Given the description of an element on the screen output the (x, y) to click on. 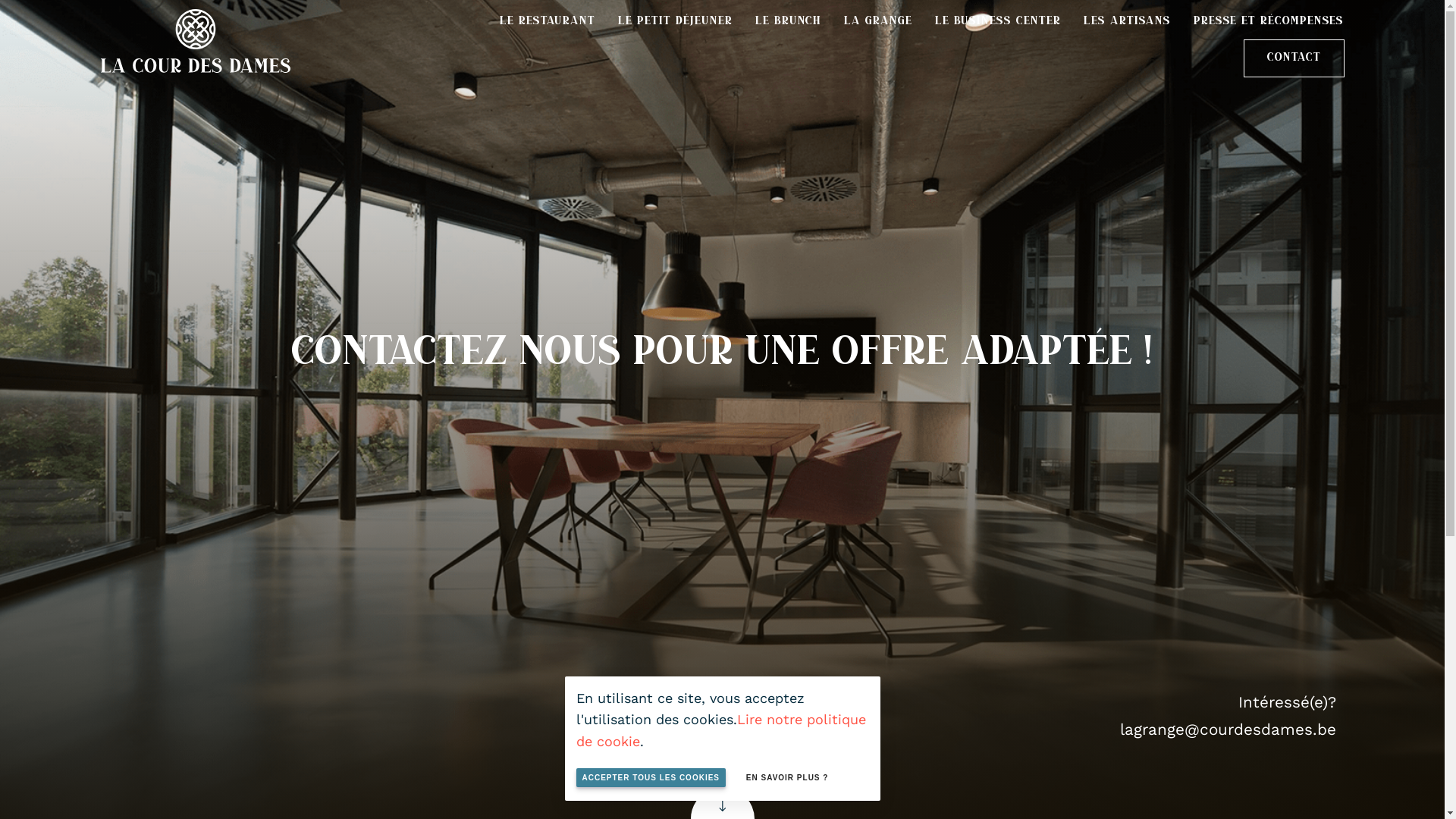
LES ARTISANS Element type: text (1126, 21)
CONTACT Element type: text (1293, 58)
EN SAVOIR PLUS ? Element type: text (787, 777)
LA GRANGE Element type: text (878, 21)
LE RESTAURANT Element type: text (547, 21)
LE BUSINESS CENTER Element type: text (997, 21)
LE BRUNCH Element type: text (788, 21)
Lire notre politique de cookie Element type: text (721, 730)
ACCEPTER TOUS LES COOKIES Element type: text (651, 777)
